Given the description of an element on the screen output the (x, y) to click on. 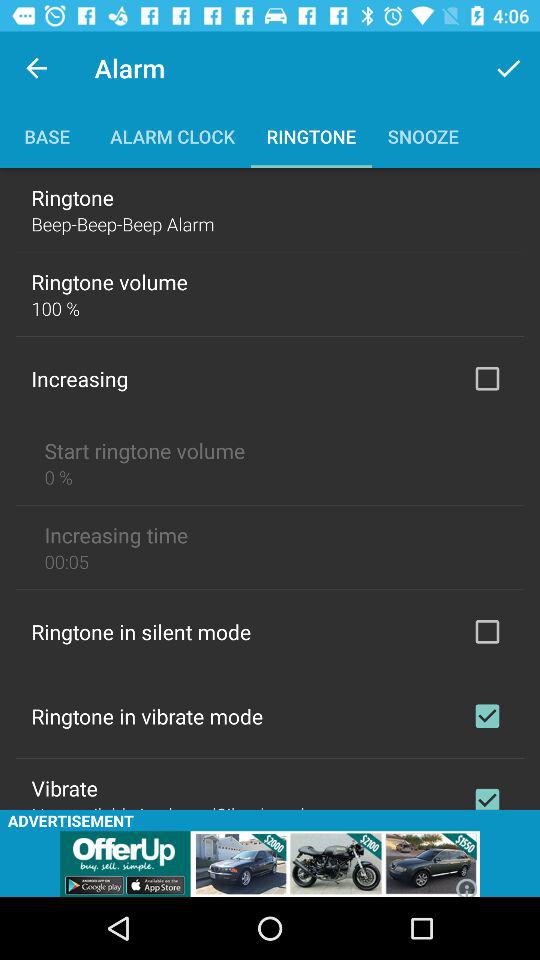
allow vibrate mode (487, 716)
